Given the description of an element on the screen output the (x, y) to click on. 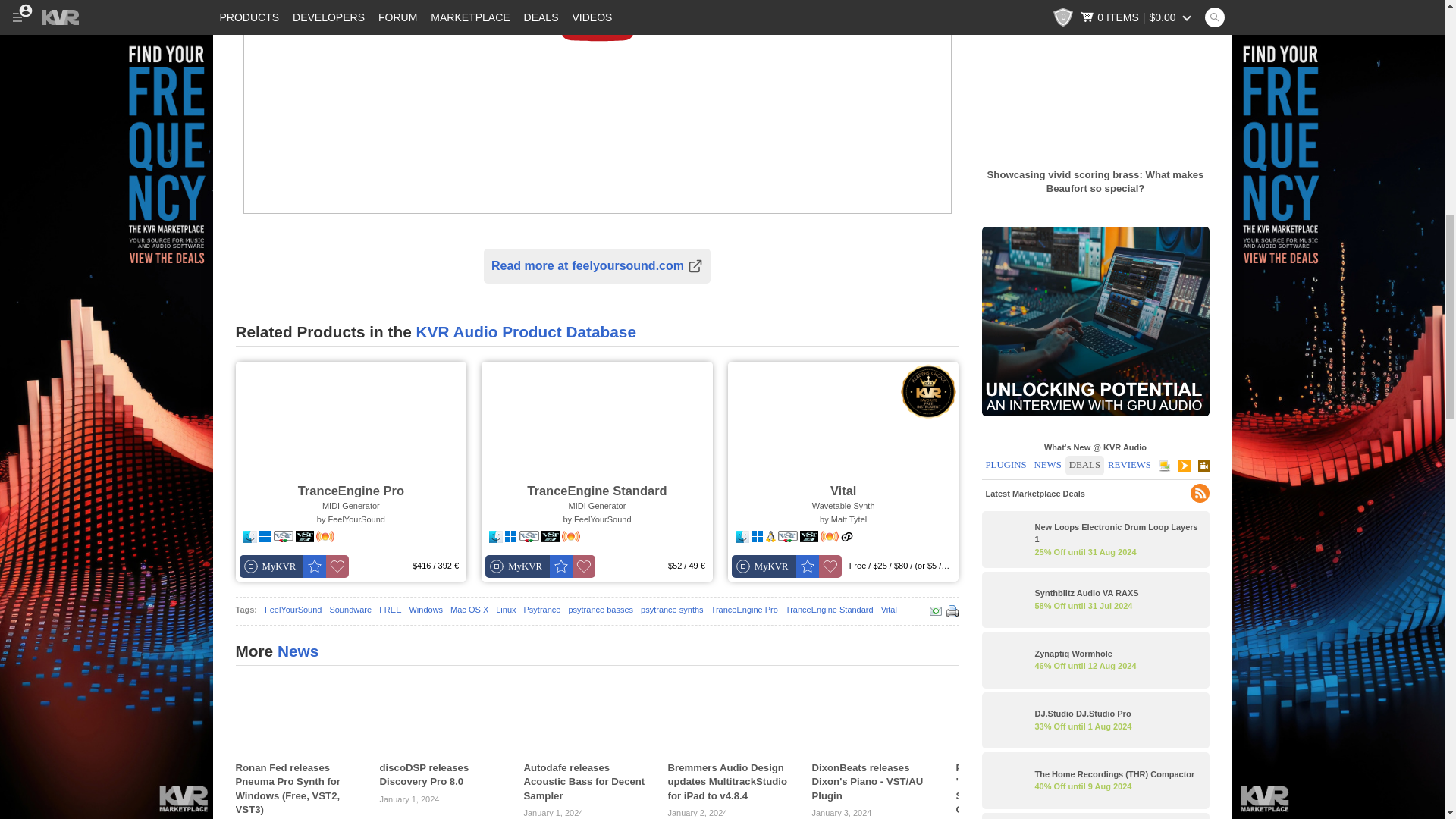
KVR Marketplace Deals (106, 63)
